Given the description of an element on the screen output the (x, y) to click on. 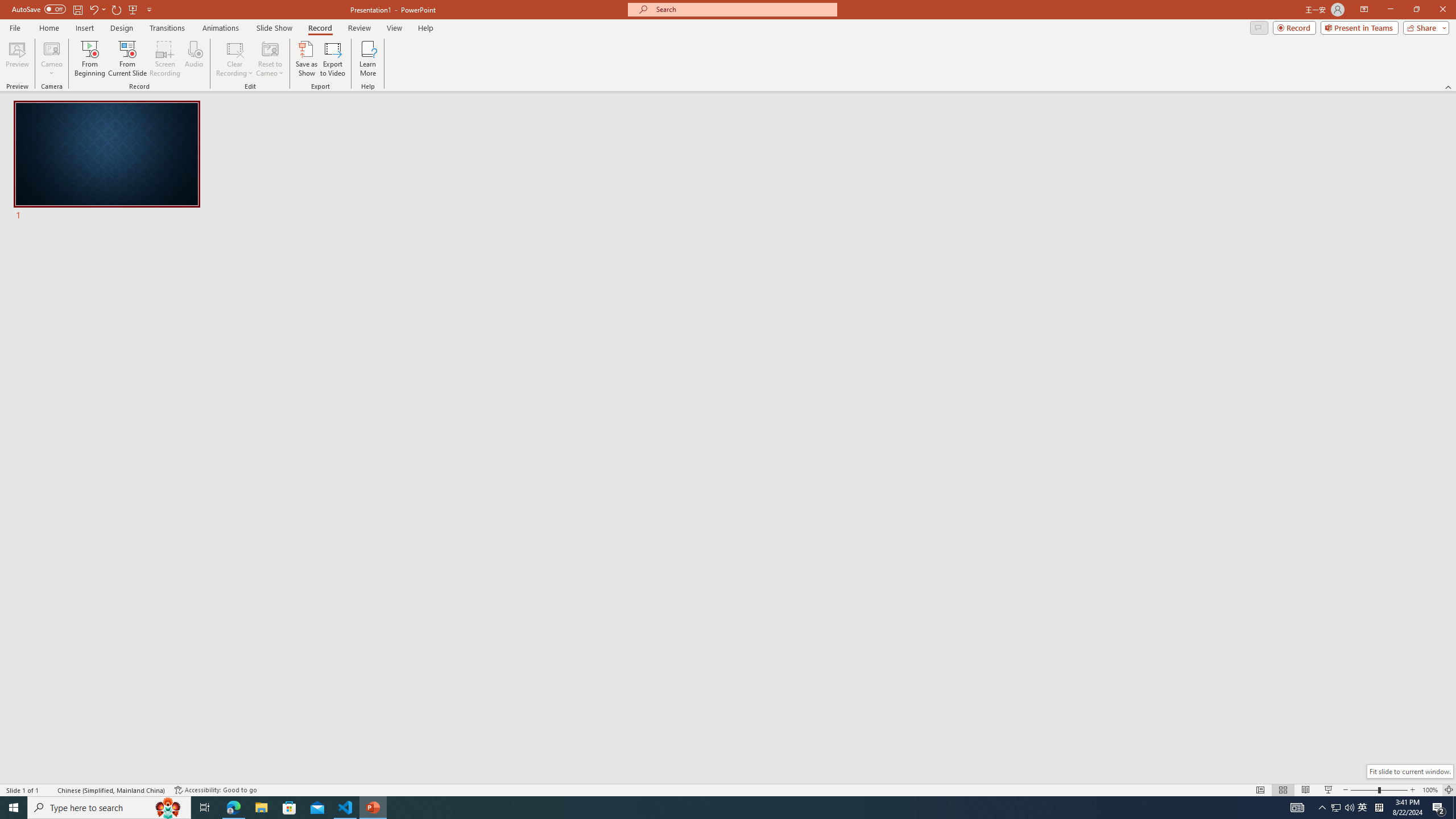
Learn More (368, 58)
From Beginning... (89, 58)
Zoom 100% (1430, 790)
Accessibility Checker Accessibility: Good to go (216, 790)
Save as Show (306, 58)
